Given the description of an element on the screen output the (x, y) to click on. 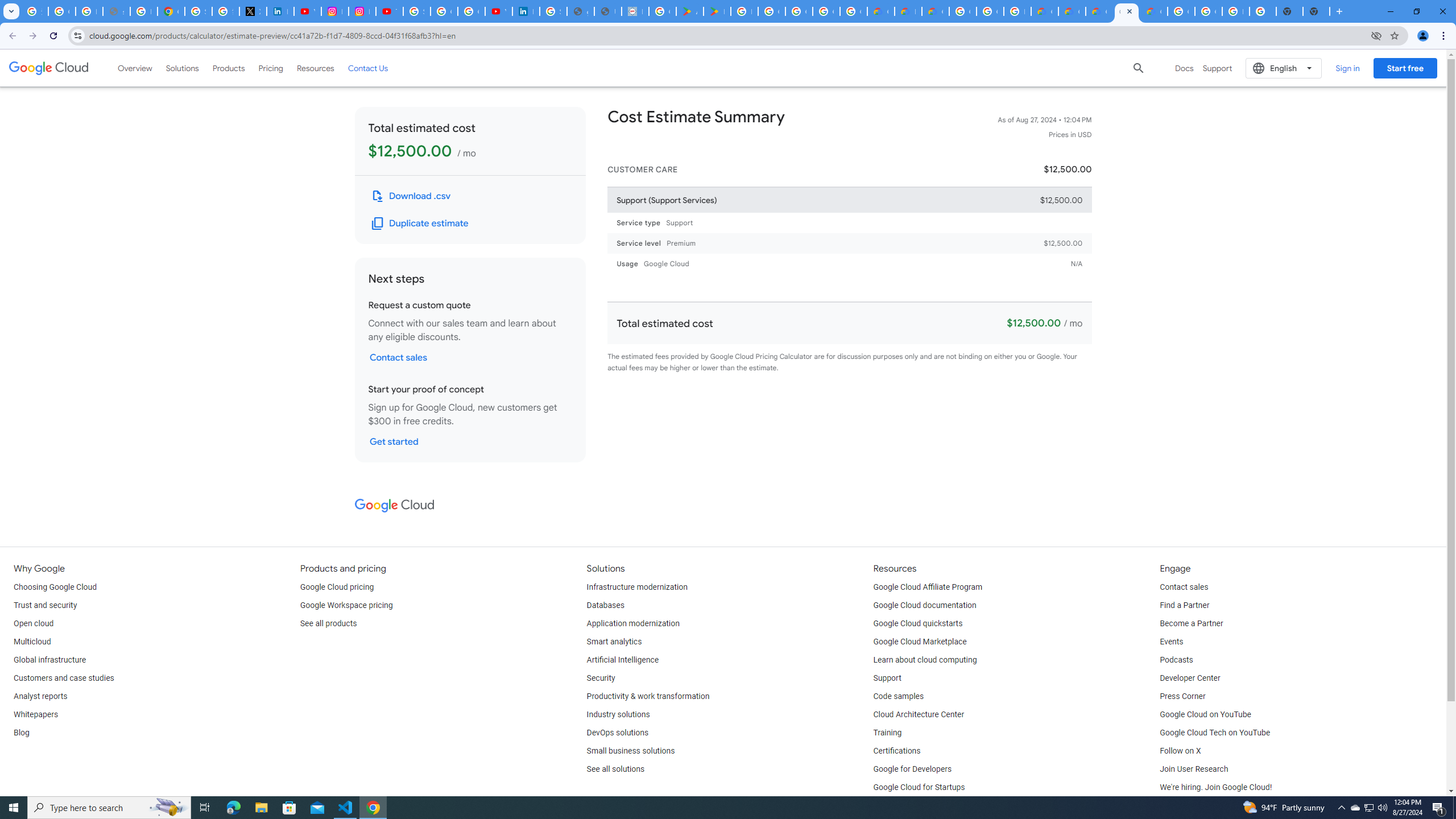
Customers and case studies (64, 678)
Google Cloud Tech on YouTube (1214, 732)
Identity verification via Persona | LinkedIn Help (525, 11)
Small business solutions (630, 751)
DevOps solutions (617, 732)
Sign in - Google Accounts (416, 11)
Google Cloud Platform (1208, 11)
Google Cloud Estimate Summary (1126, 11)
Security (600, 678)
Productivity & work transformation (648, 696)
Resources (314, 67)
